Given the description of an element on the screen output the (x, y) to click on. 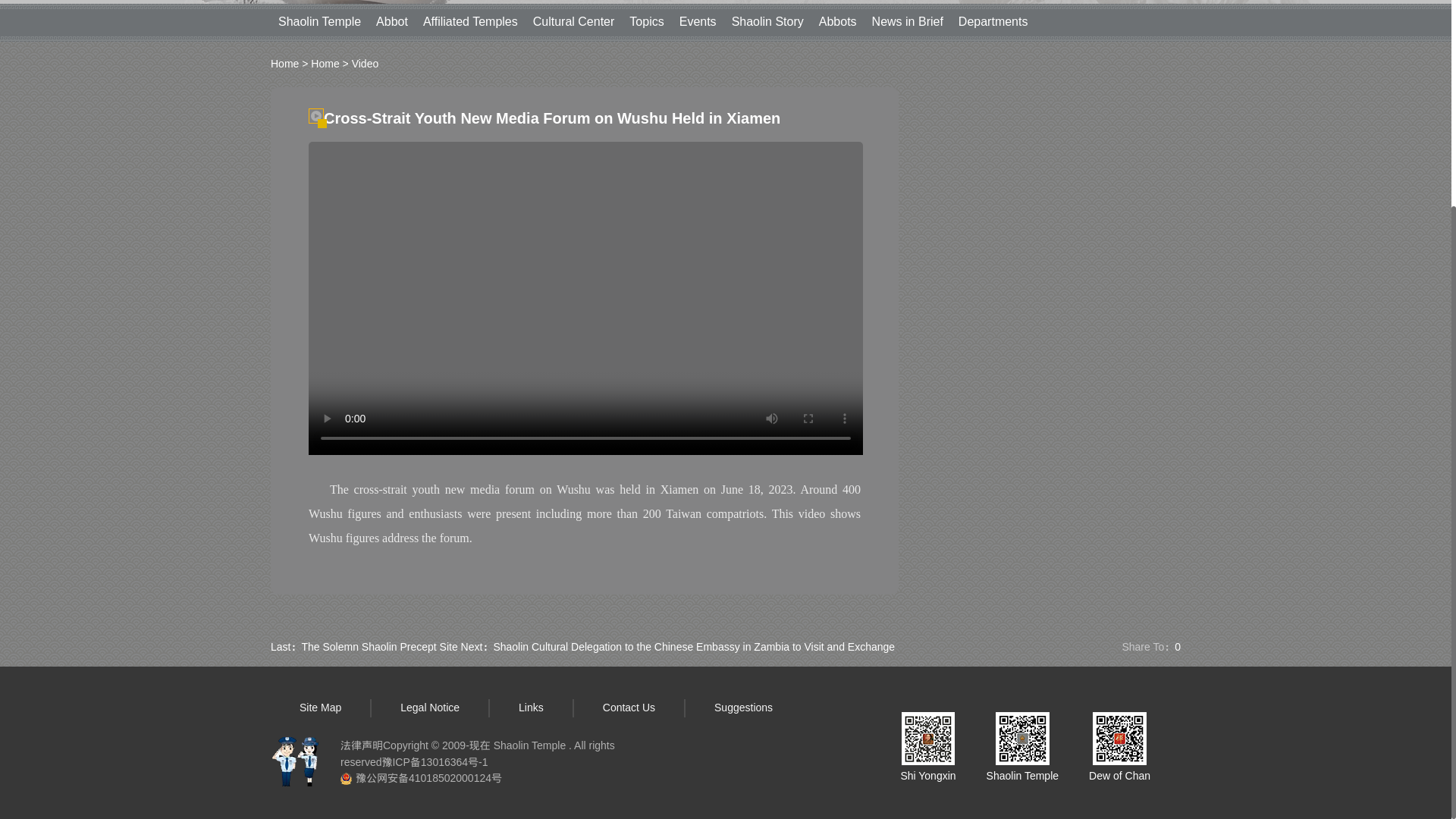
Events (697, 21)
Affiliated Temples (470, 21)
Departments (992, 21)
Suggestions (743, 707)
Abbot (391, 21)
Site Map (319, 707)
Video (365, 63)
Shaolin Temple (319, 21)
Legal Notice (430, 707)
Contact Us (628, 707)
